Given the description of an element on the screen output the (x, y) to click on. 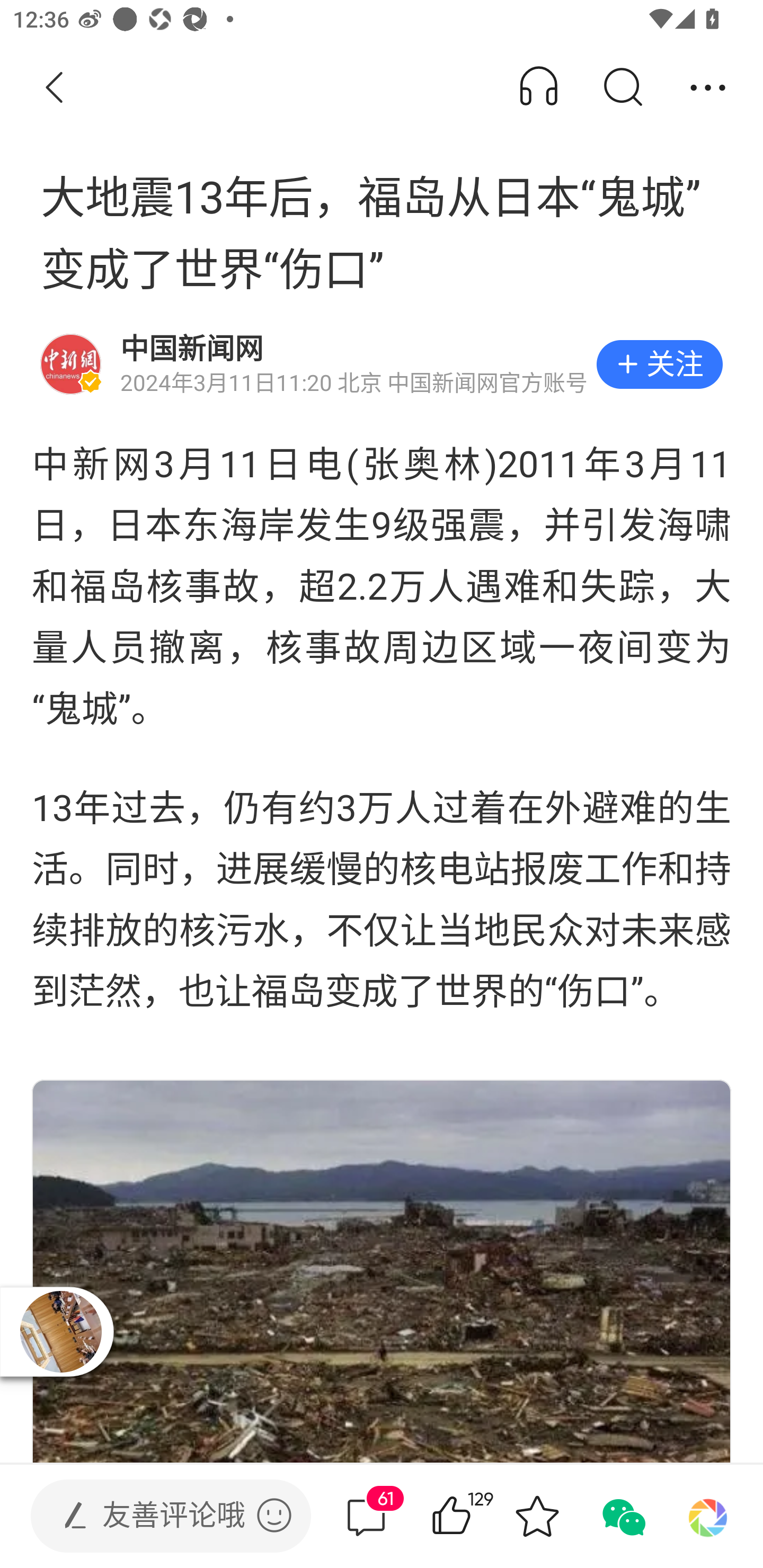
搜索  (622, 87)
分享  (707, 87)
 返回 (54, 87)
中国新闻网 2024年3月11日11:20 北京 中国新闻网官方账号  关注 (381, 364)
 关注 (659, 364)
新闻图片 (381, 1271)
播放器 (60, 1331)
发表评论  友善评论哦 发表评论  (155, 1516)
61评论  61 评论 (365, 1516)
129赞 (476, 1516)
收藏  (536, 1516)
分享到微信  (622, 1516)
分享到朋友圈 (707, 1516)
 (274, 1515)
